Given the description of an element on the screen output the (x, y) to click on. 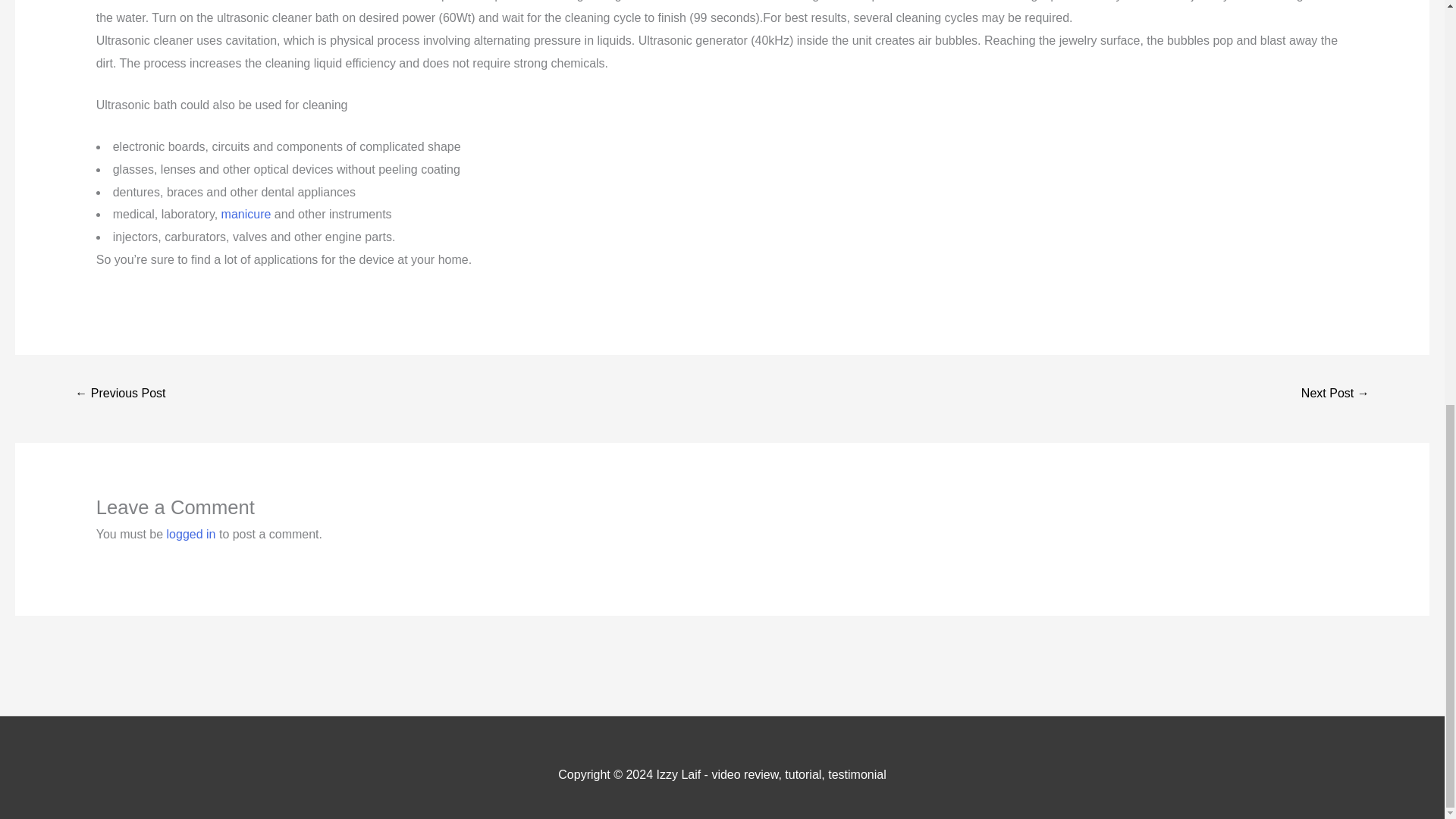
logged in (191, 533)
Drawbacks of the cheapest 16Gb Wi-Fi only iPad (119, 394)
manicure (245, 214)
Easy way to get timecodes for Youtube transcripts (1334, 394)
